Given the description of an element on the screen output the (x, y) to click on. 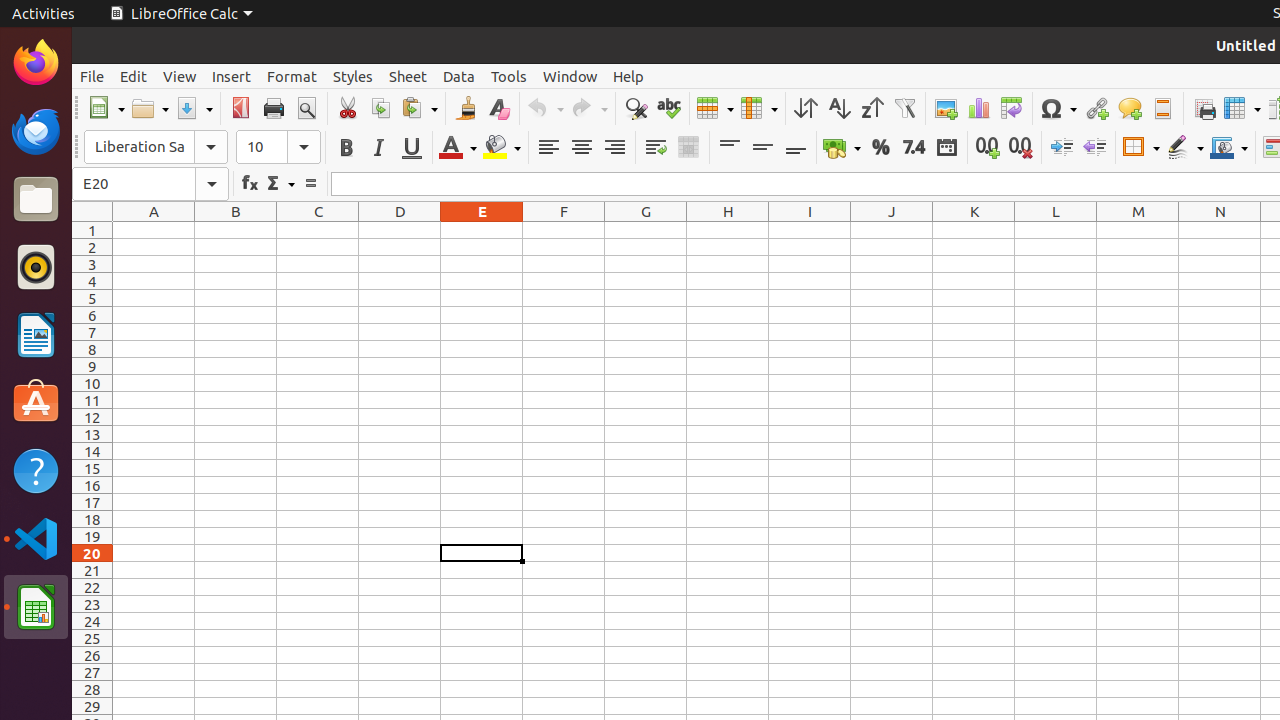
Clone Element type: push-button (465, 108)
Add Decimal Place Element type: push-button (987, 147)
Wrap Text Element type: push-button (655, 147)
A1 Element type: table-cell (154, 230)
LibreOffice Calc Element type: menu (181, 13)
